Given the description of an element on the screen output the (x, y) to click on. 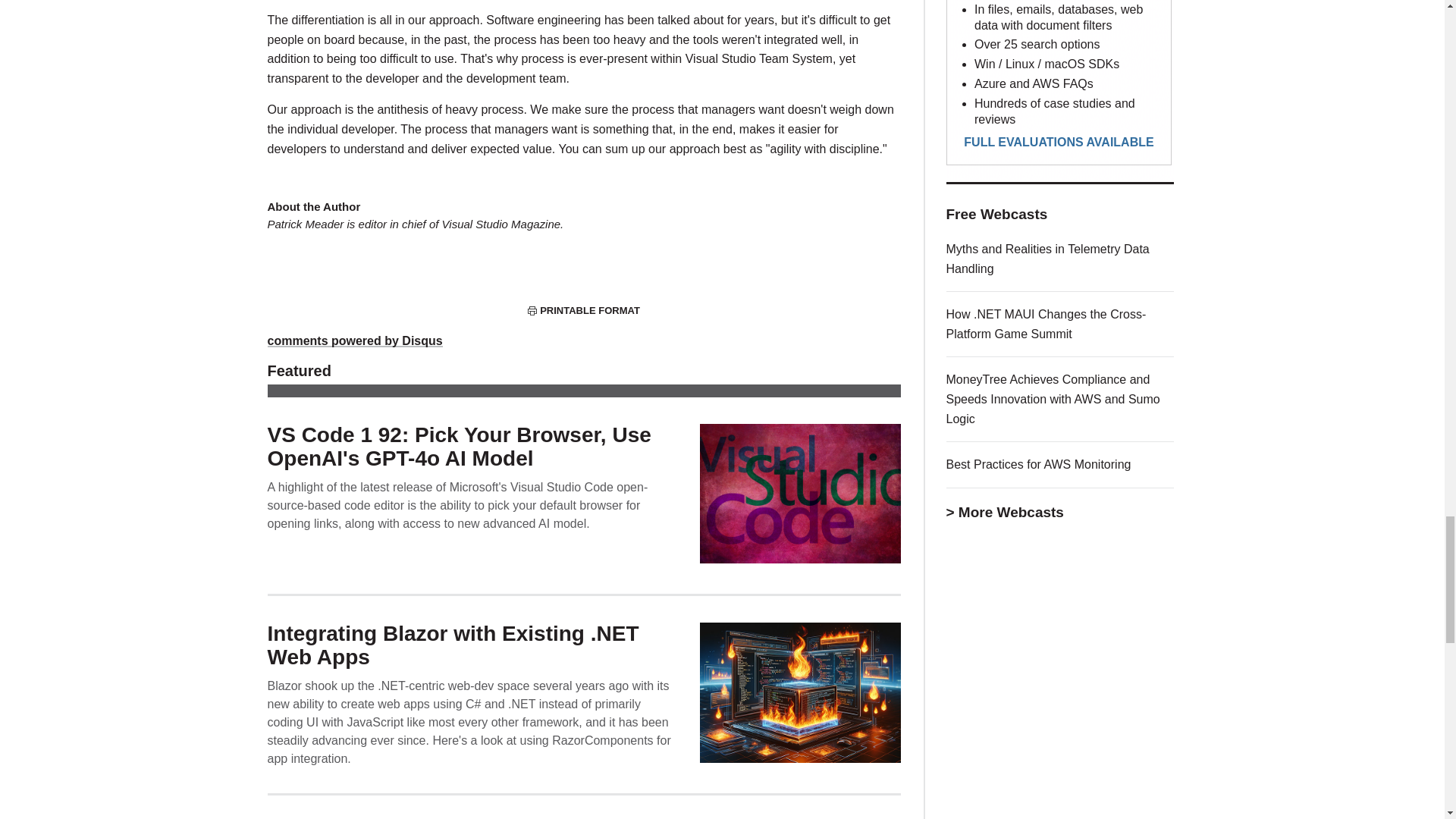
3rd party ad content (1059, 669)
3rd party ad content (1059, 90)
3rd party ad content (1059, 810)
